Given the description of an element on the screen output the (x, y) to click on. 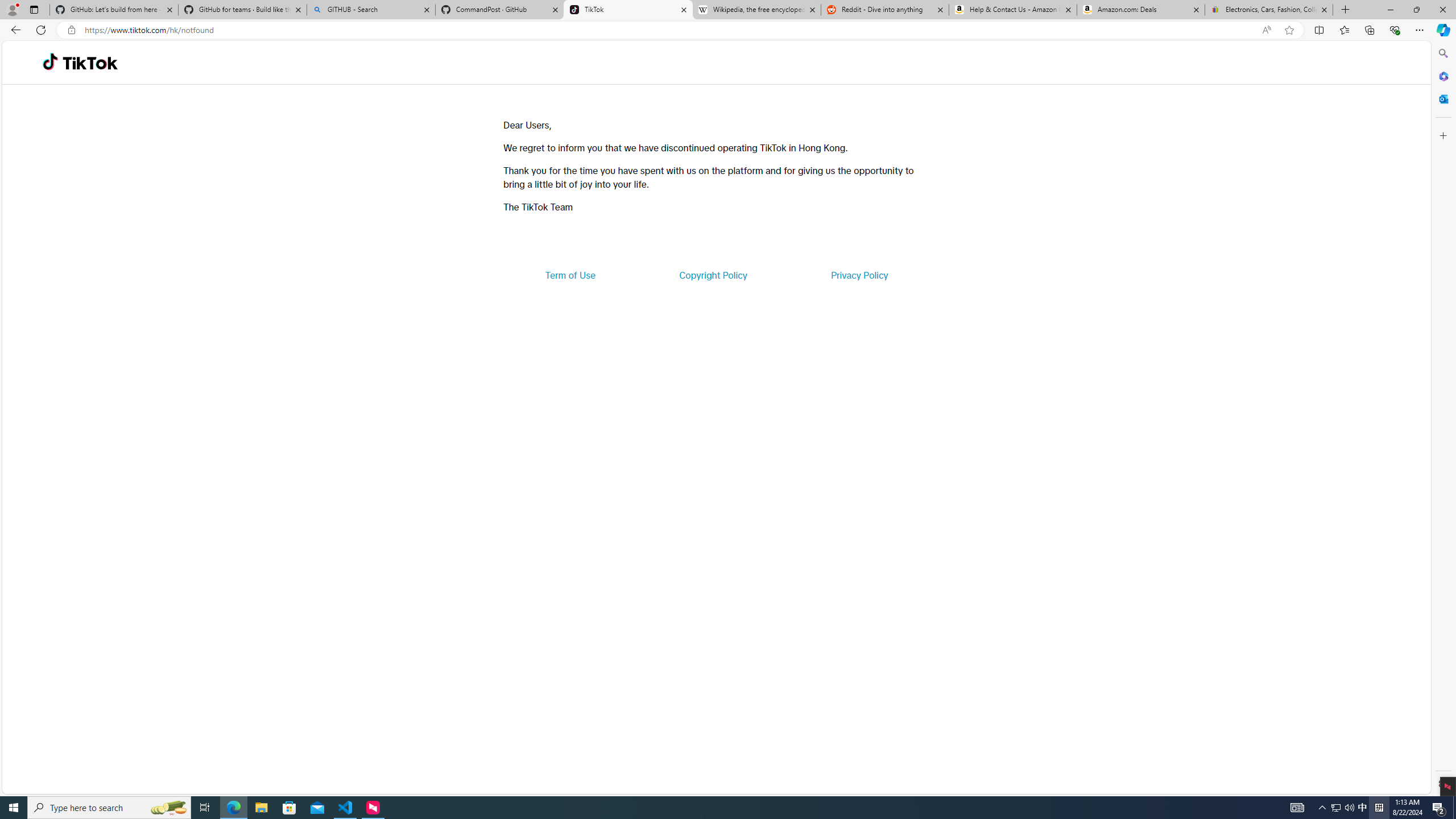
GITHUB - Search (370, 9)
Privacy Policy (858, 274)
TikTok (89, 62)
Wikipedia, the free encyclopedia (756, 9)
Term of Use (569, 274)
